Given the description of an element on the screen output the (x, y) to click on. 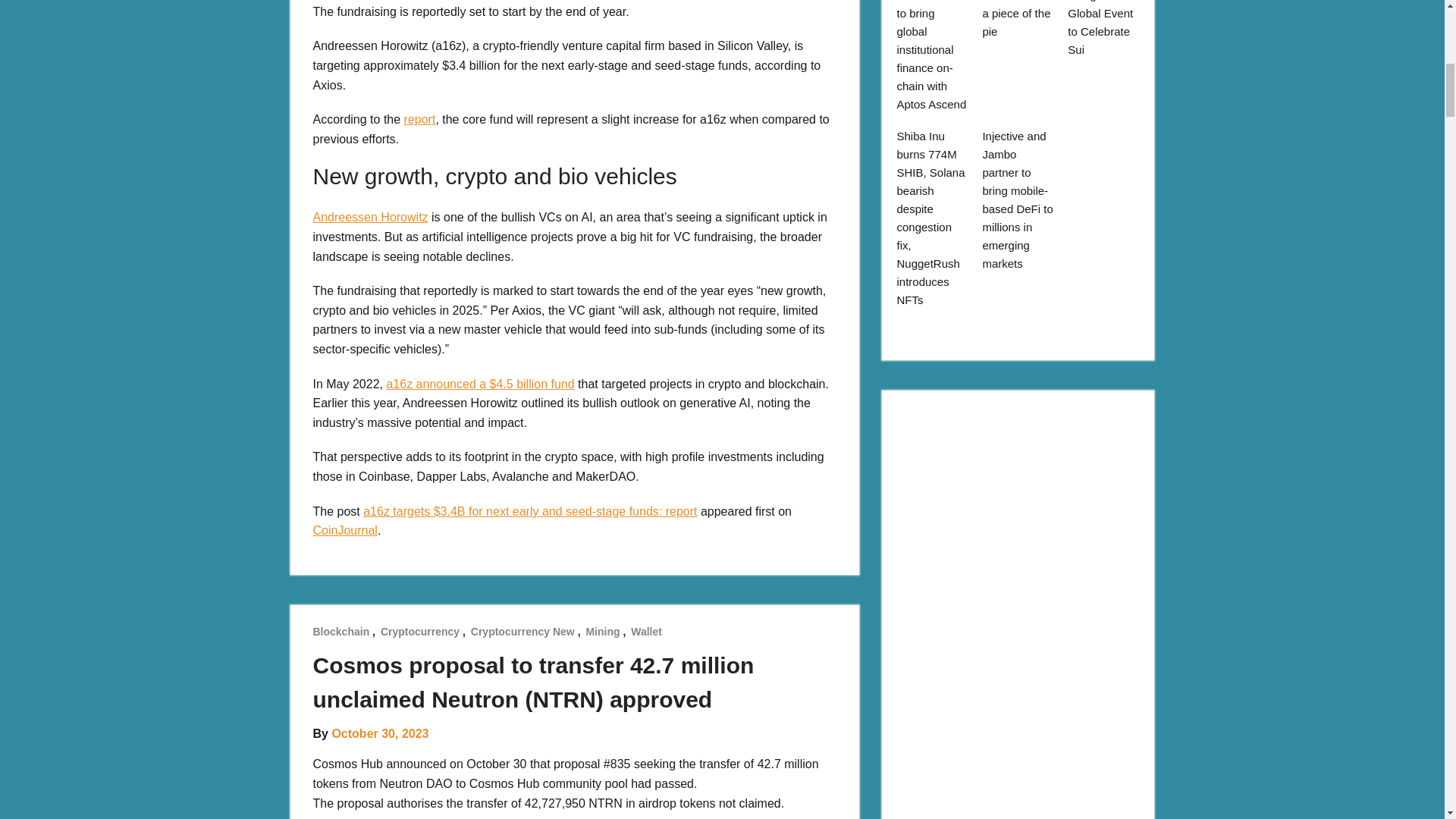
Andreessen Horowitz (370, 216)
CoinJournal (345, 530)
report (419, 119)
